Given the description of an element on the screen output the (x, y) to click on. 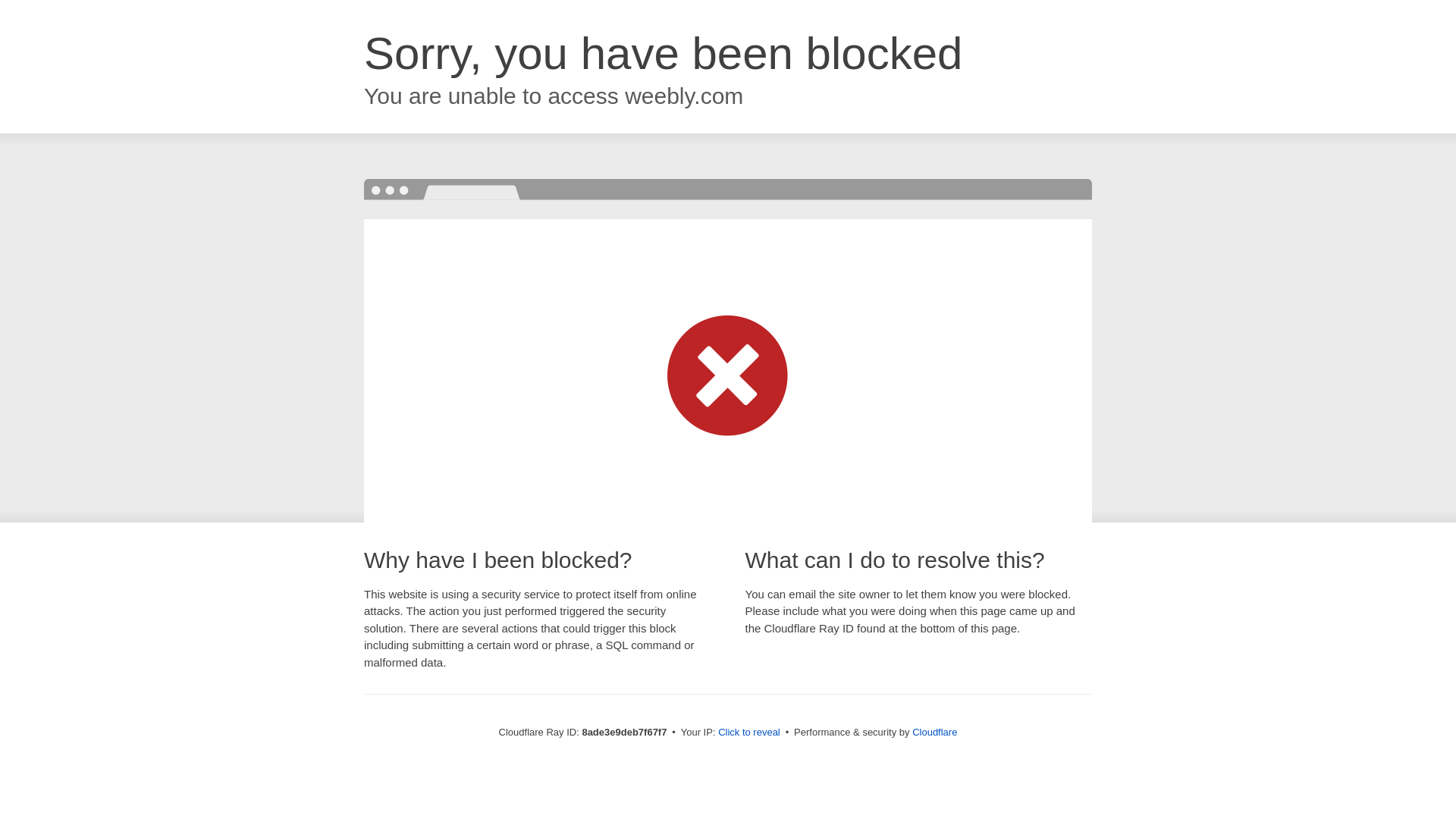
Cloudflare (934, 731)
Click to reveal (748, 732)
